Given the description of an element on the screen output the (x, y) to click on. 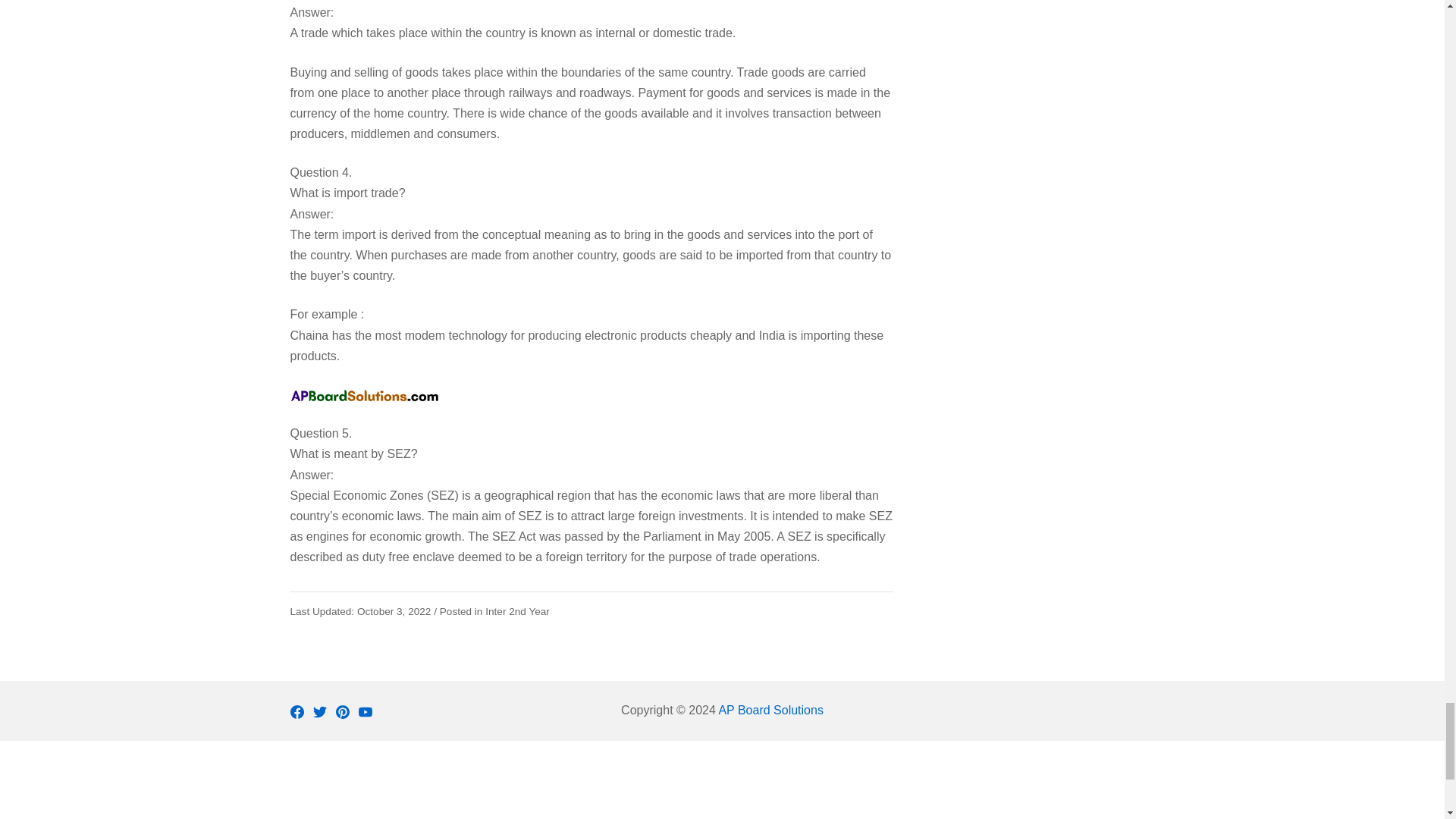
Youtube (364, 712)
Pinterest (341, 712)
October 3, 2022 (359, 611)
Inter 2nd Year (517, 611)
Pinterest icon (341, 712)
Twitter icon (319, 712)
YouTube icon (364, 712)
Twitter (319, 712)
Facebook (295, 712)
